Given the description of an element on the screen output the (x, y) to click on. 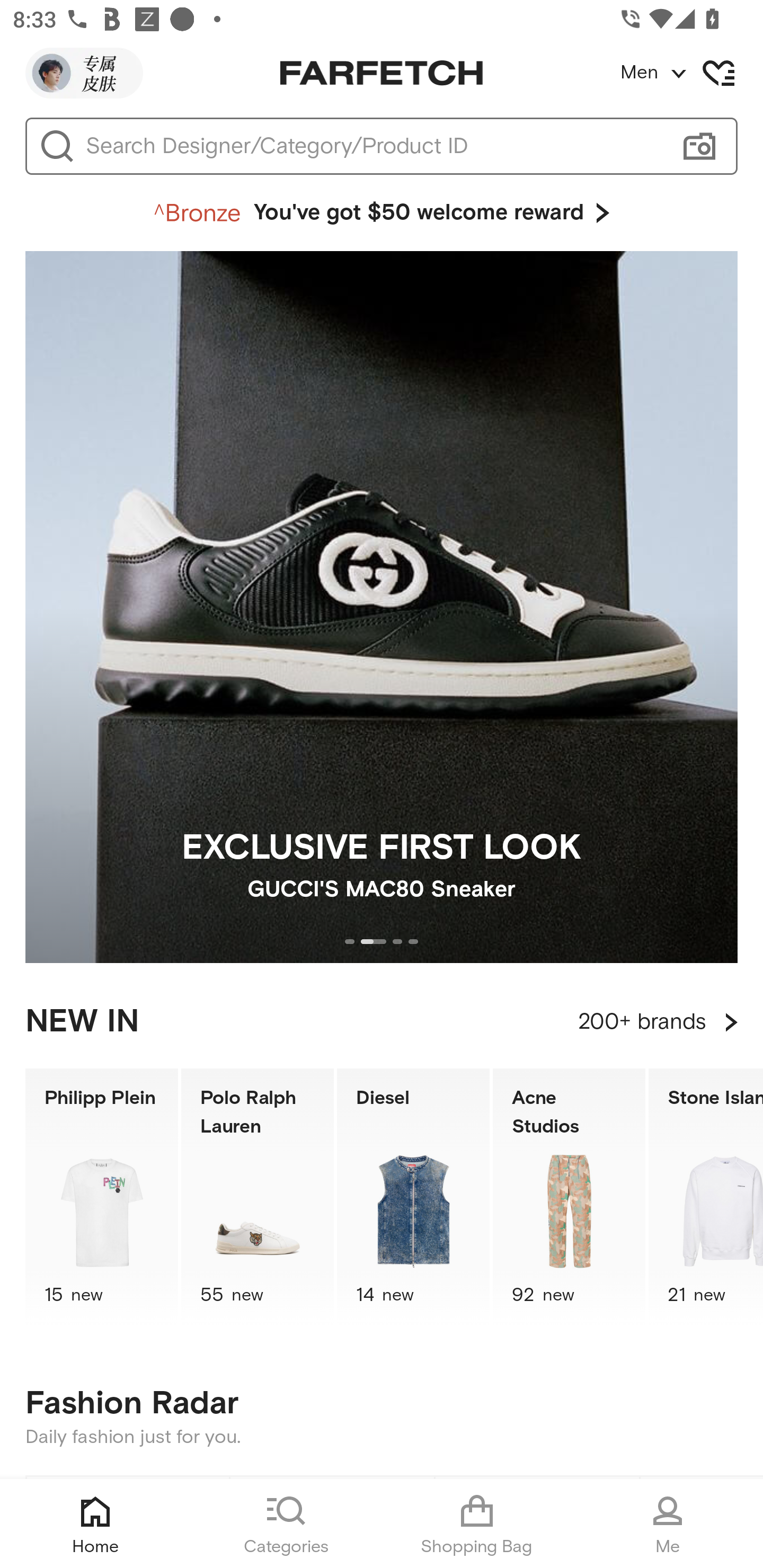
Men (691, 72)
Search Designer/Category/Product ID (373, 146)
You've got $50 welcome reward (381, 213)
NEW IN 200+ brands (381, 1021)
Philipp Plein 15  new (101, 1196)
Polo Ralph Lauren 55  new (257, 1196)
Diesel 14  new (413, 1196)
Acne Studios 92  new (568, 1196)
Stone Island 21  new (705, 1196)
Categories (285, 1523)
Shopping Bag (476, 1523)
Me (667, 1523)
